Given the description of an element on the screen output the (x, y) to click on. 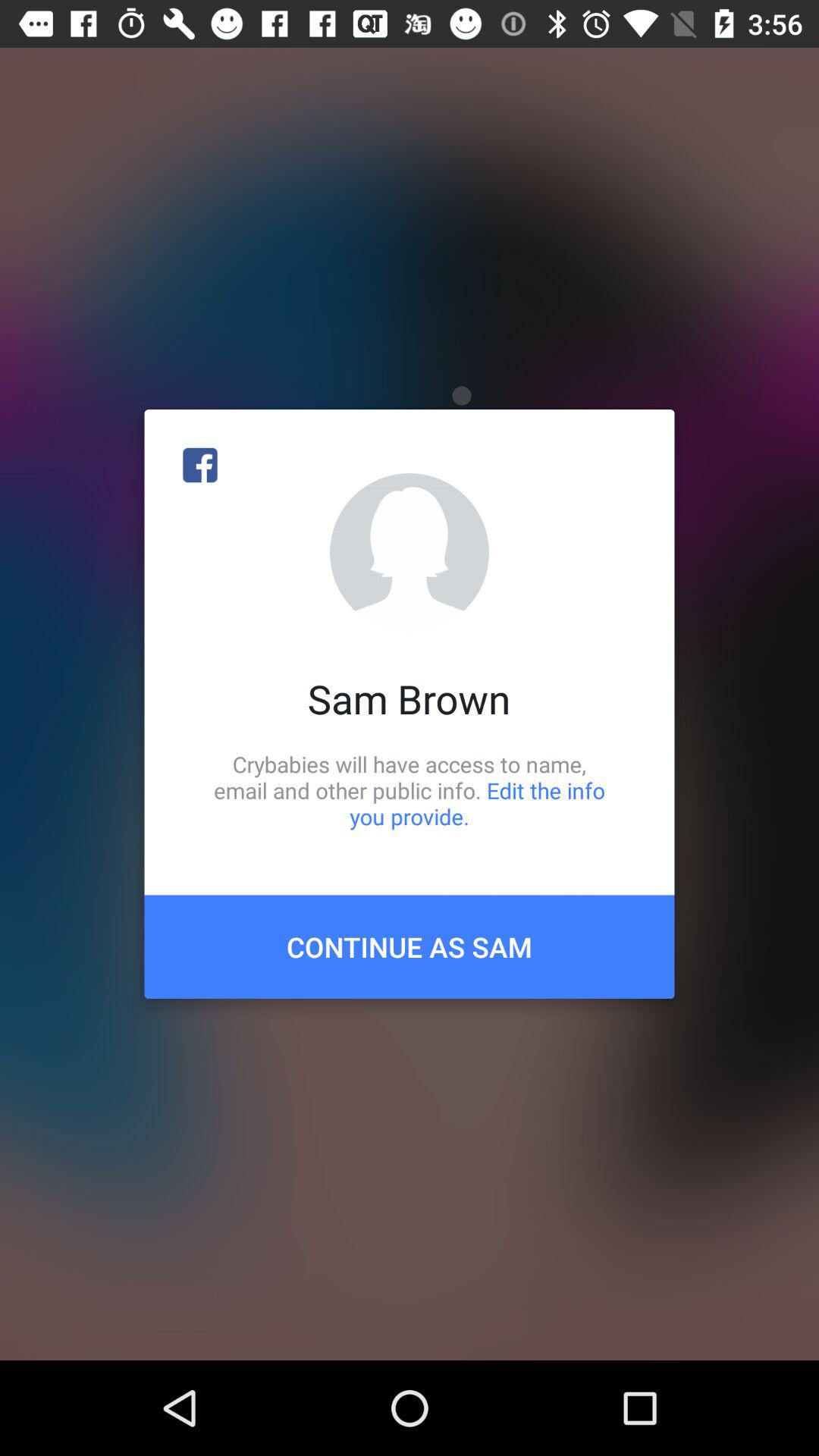
select the crybabies will have item (409, 790)
